Given the description of an element on the screen output the (x, y) to click on. 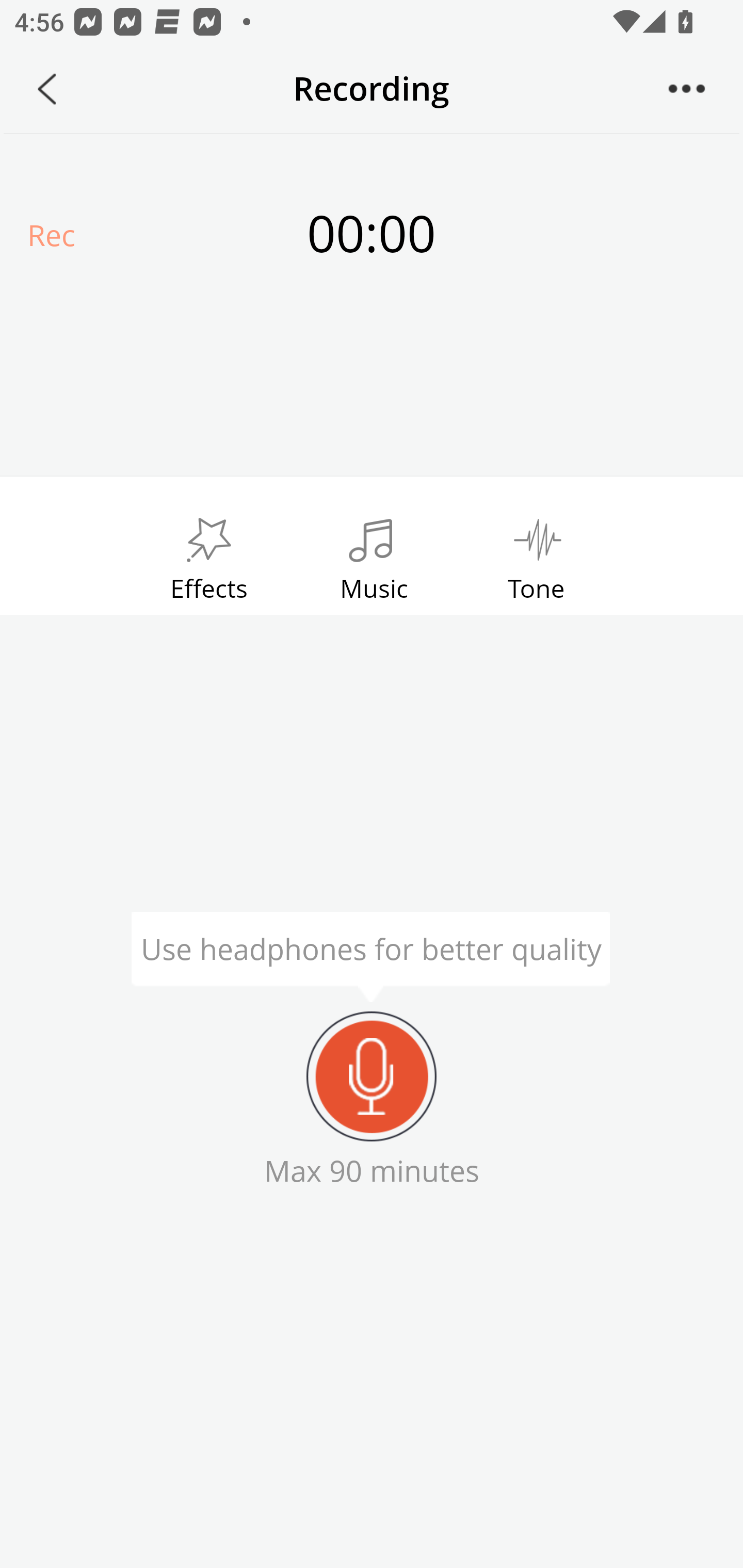
Back (46, 88)
Effects (208, 554)
Music (374, 554)
Tone (536, 554)
Recording (371, 1076)
